Given the description of an element on the screen output the (x, y) to click on. 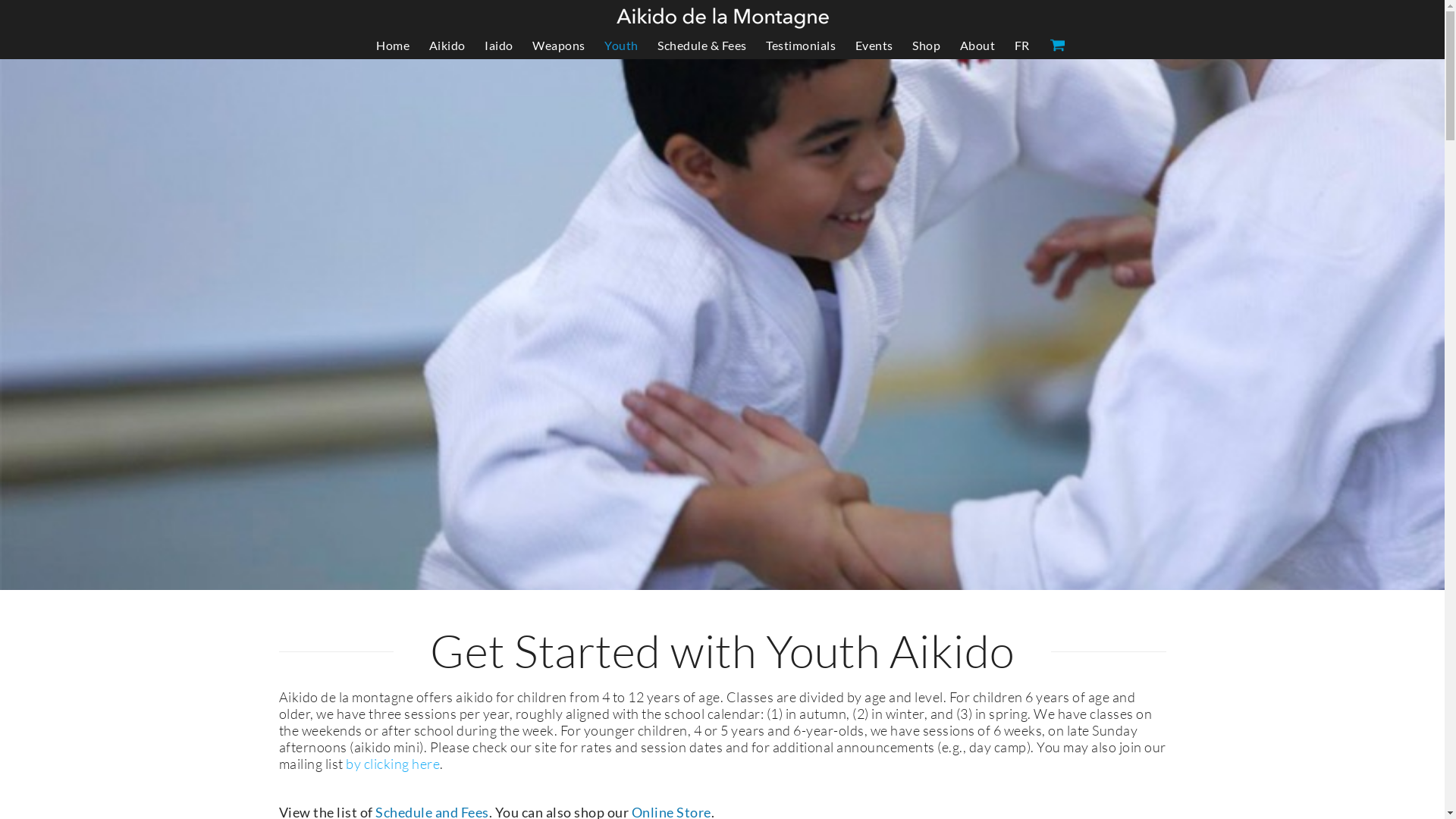
Aikido Element type: text (446, 45)
Youth Element type: text (621, 45)
Schedule & Fees Element type: text (702, 45)
Home Element type: text (392, 45)
Shop Element type: text (925, 45)
Iaido Element type: text (498, 45)
Testimonials Element type: text (800, 45)
Aikido de la Montagne Element type: hover (721, 17)
About Element type: text (977, 45)
by clicking here Element type: text (392, 763)
Events Element type: text (874, 45)
Weapons Element type: text (558, 45)
FR Element type: text (1022, 45)
